Given the description of an element on the screen output the (x, y) to click on. 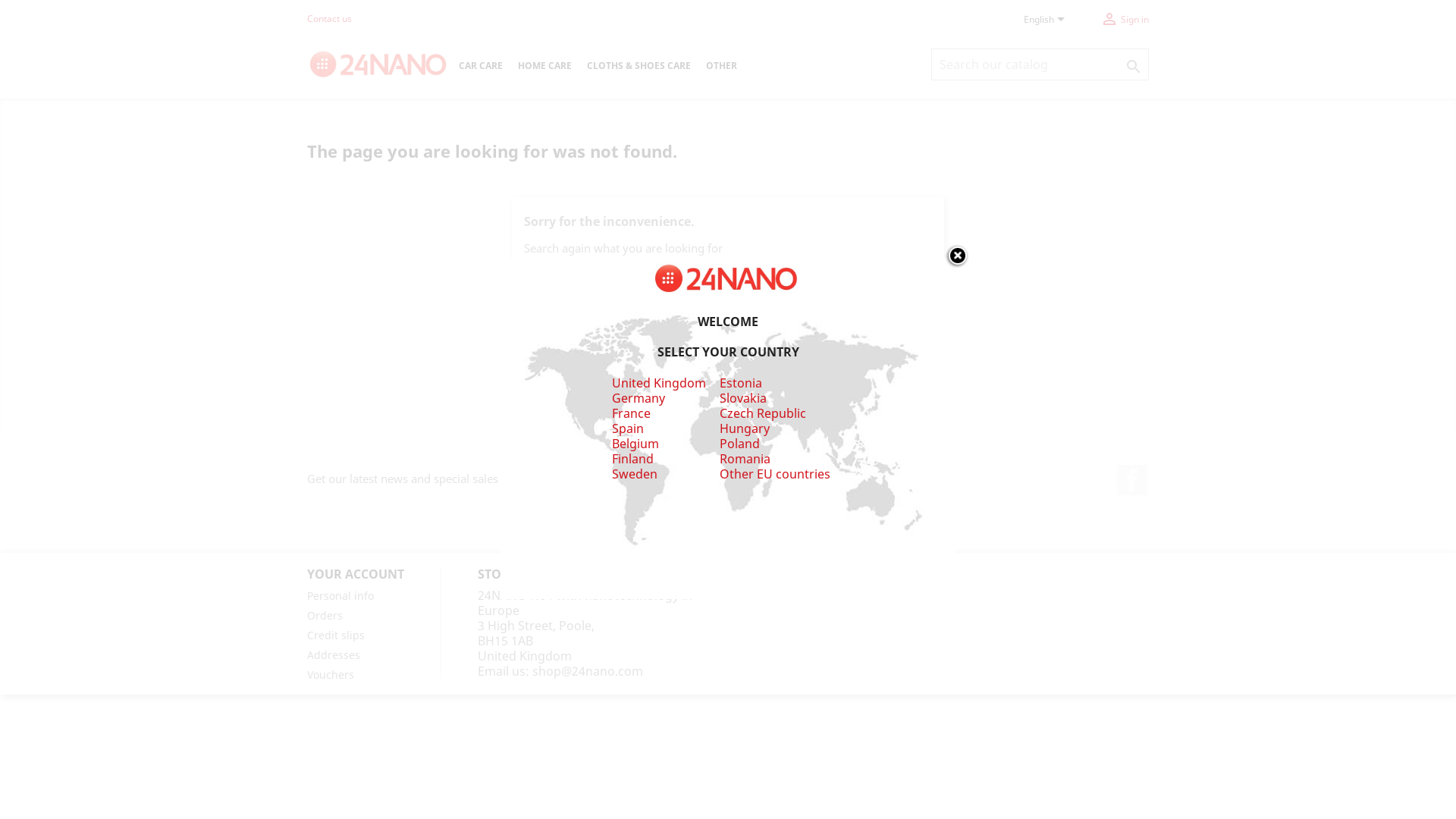
Other EU countries Element type: text (774, 473)
Facebook Element type: text (1132, 479)
Finland Element type: text (631, 458)
Vouchers Element type: text (330, 674)
CLOTHS & SHOES CARE Element type: text (638, 67)
HOME CARE Element type: text (544, 67)
Sweden Element type: text (633, 473)
Contact us Element type: text (329, 18)
CAR CARE Element type: text (480, 67)
France Element type: text (630, 412)
Credit slips Element type: text (335, 634)
Germany Element type: text (637, 397)
Poland Element type: text (739, 443)
Czech Republic Element type: text (762, 412)
Belgium Element type: text (634, 443)
Hungary Element type: text (744, 428)
Romania Element type: text (744, 458)
Slovakia Element type: text (742, 405)
Addresses Element type: text (333, 654)
United Kingdom Element type: text (658, 382)
Subscribe Element type: text (811, 479)
Spain Element type: text (627, 428)
Orders Element type: text (324, 615)
Personal info Element type: text (340, 595)
OTHER Element type: text (721, 67)
YOUR ACCOUNT Element type: text (355, 573)
Estonia Element type: text (740, 382)
